Given the description of an element on the screen output the (x, y) to click on. 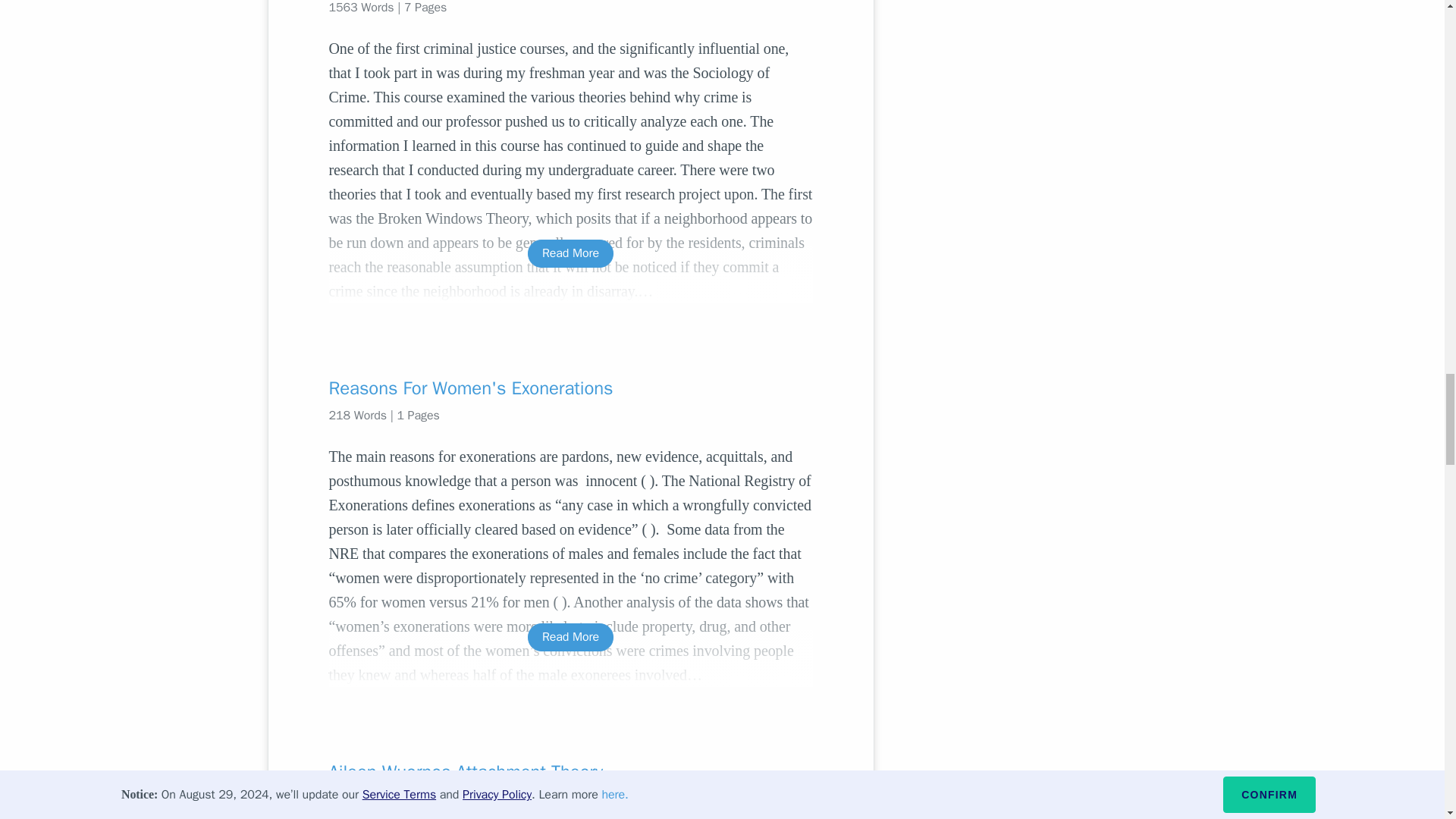
Reasons For Women's Exonerations (570, 387)
Read More (569, 637)
Read More (569, 253)
Aileen Wuornos Attachment Theory (570, 771)
